Given the description of an element on the screen output the (x, y) to click on. 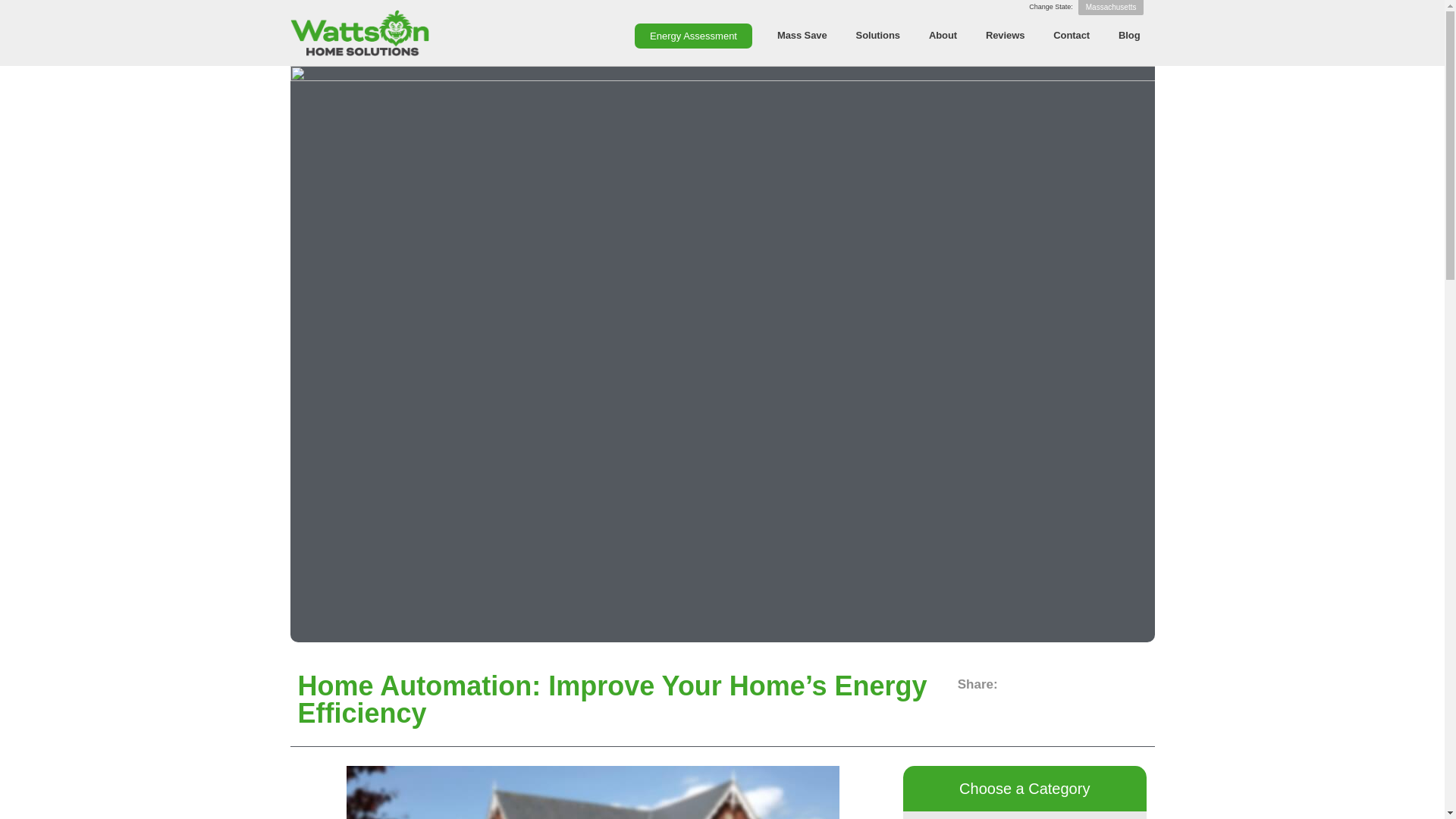
Solutions (877, 35)
Energy Assessment (693, 35)
Reviews (1005, 35)
Contact (1071, 35)
About (942, 35)
Massachusetts (1111, 7)
Mass Save (801, 35)
